Given the description of an element on the screen output the (x, y) to click on. 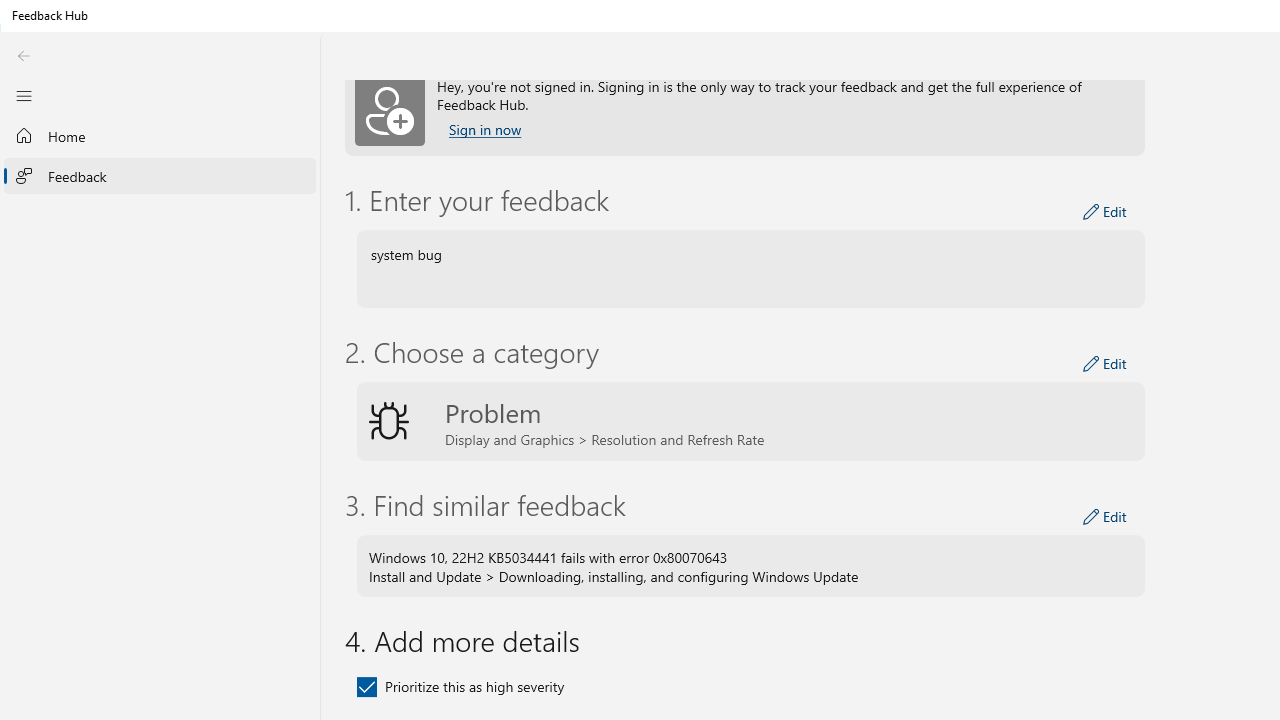
Edit your feedback details (1105, 211)
Prioritize this as high severity (460, 686)
Feedback (159, 175)
Back (23, 56)
Home (159, 136)
Edit feedback type and category (1105, 363)
Edit similar feedback (1105, 516)
Sign in now (484, 129)
Close Navigation (23, 95)
